Given the description of an element on the screen output the (x, y) to click on. 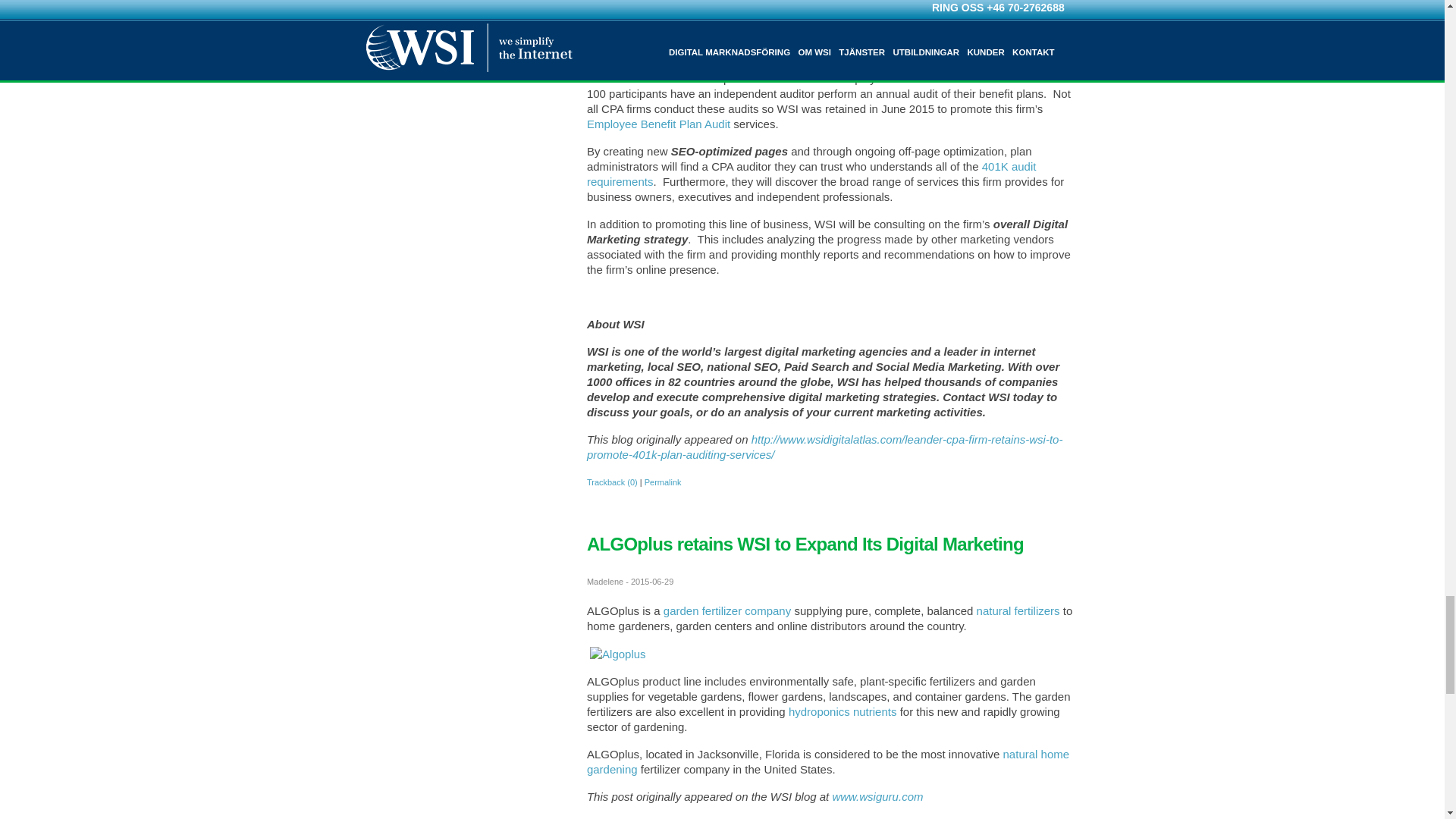
WSI Guru (877, 796)
